Given the description of an element on the screen output the (x, y) to click on. 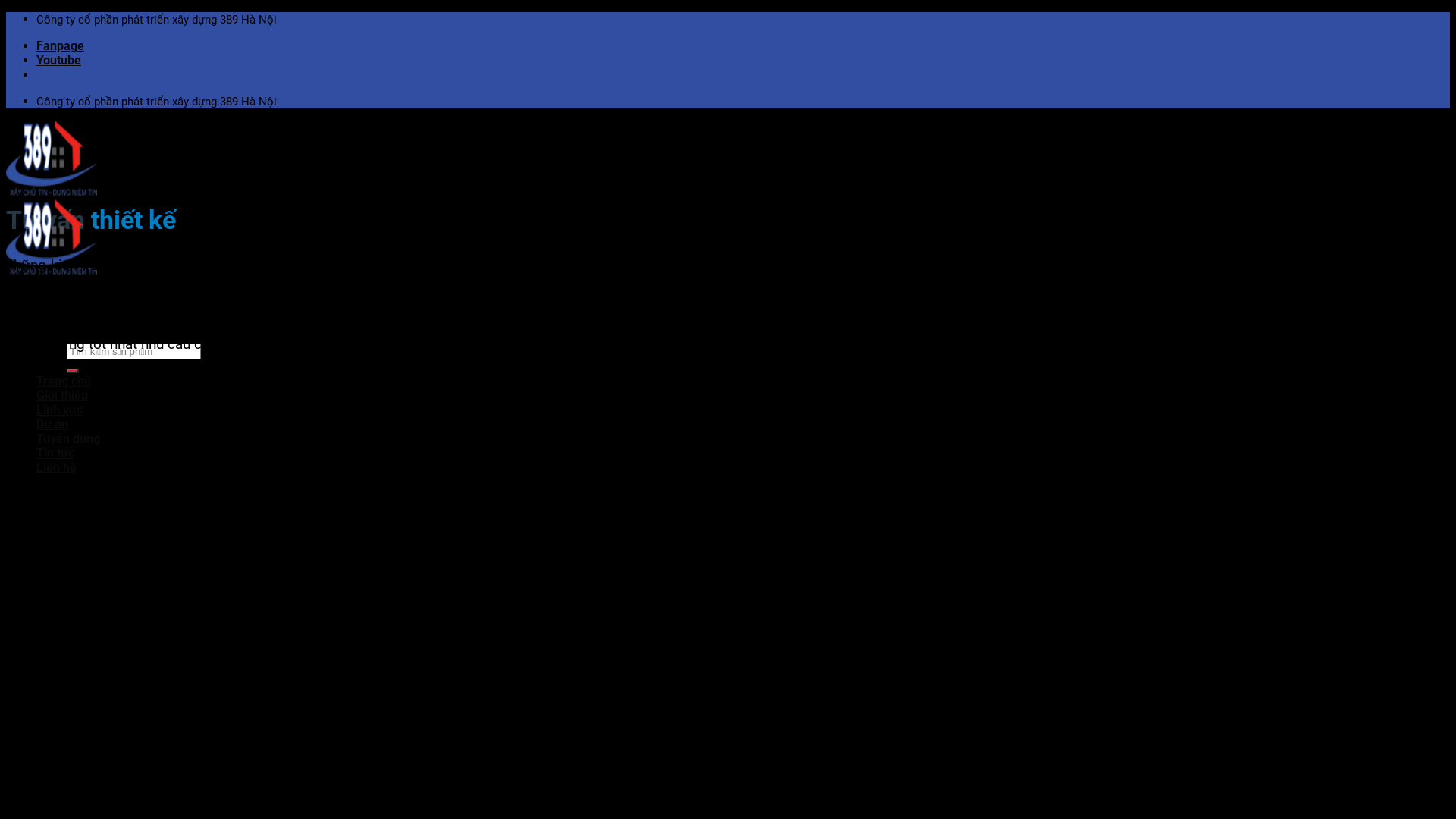
Skip to content Element type: text (5, 11)
Fanpage Element type: text (60, 45)
Youtube Element type: text (58, 60)
